Given the description of an element on the screen output the (x, y) to click on. 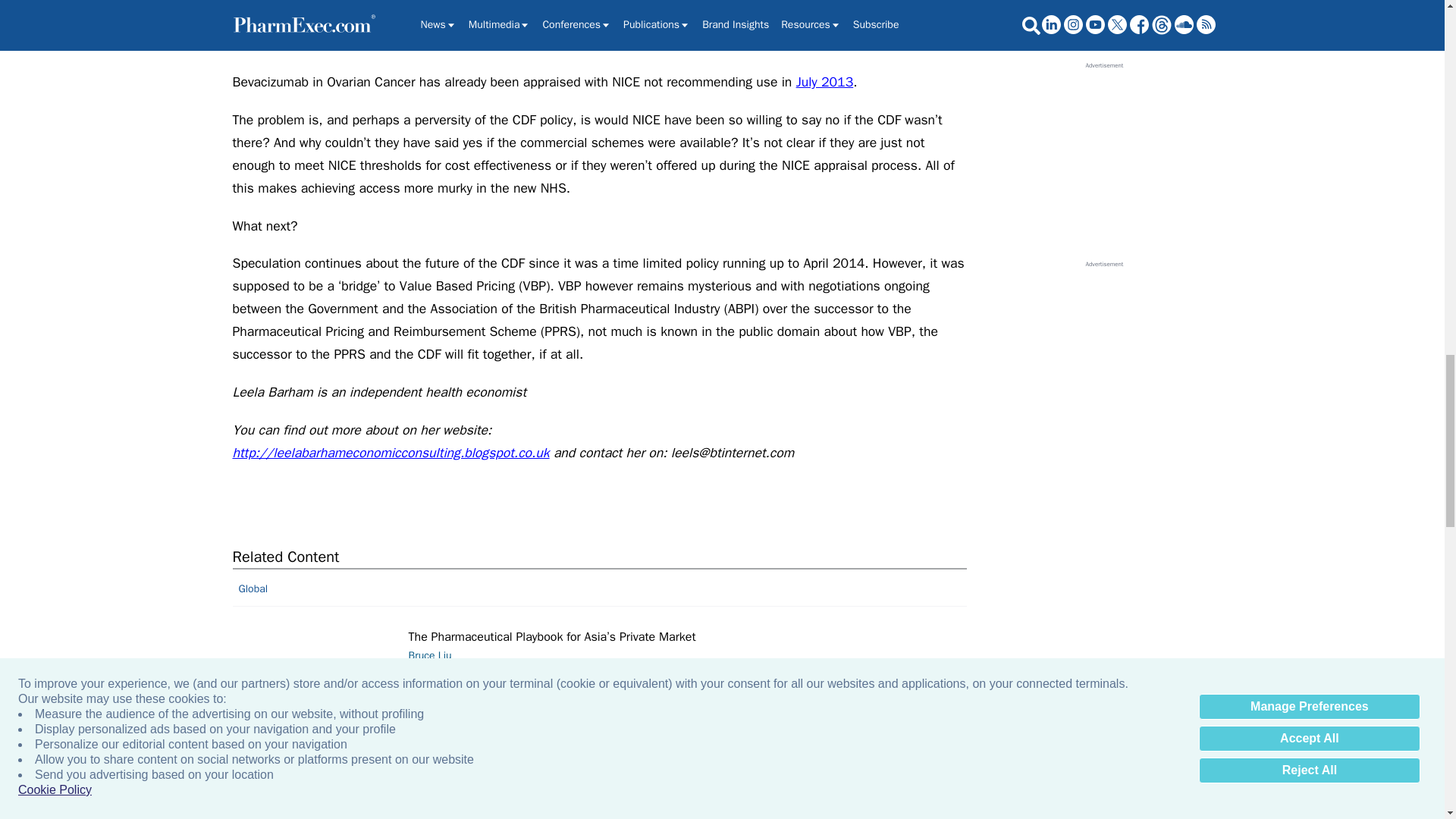
Bruce Liu (317, 817)
